Given the description of an element on the screen output the (x, y) to click on. 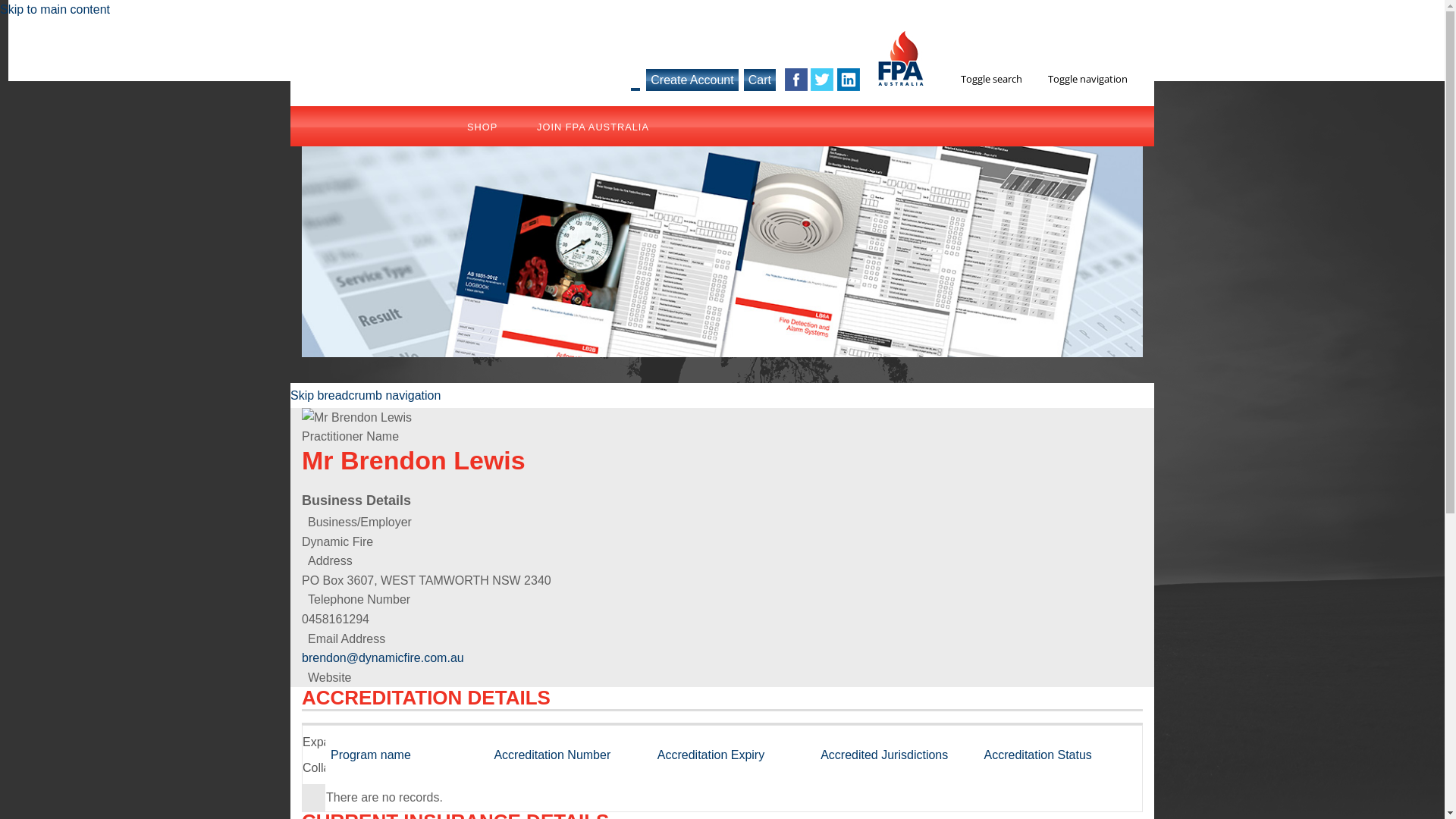
Skip to main content Element type: text (54, 9)
Visit our Twitter page Element type: hover (821, 81)
Accreditation Status Element type: text (1038, 754)
Accreditation Number Element type: text (551, 754)
Accredited Jurisdictions Element type: text (883, 754)
Toggle navigation Element type: text (1087, 78)
Program name Element type: text (370, 754)
Cart Element type: text (759, 80)
Create Account Element type: text (691, 80)
brendon@dynamicfire.com.au Element type: text (382, 657)
SHOP Element type: text (482, 127)
Skip breadcrumb navigation Element type: text (365, 395)
Toggle search Element type: text (983, 78)
Visit our Facebook page Element type: hover (795, 81)
Accreditation Expiry Element type: text (710, 754)
Mr Brendon Lewis Element type: hover (356, 417)
Visit our LinkedIn page Element type: hover (848, 81)
JOIN FPA AUSTRALIA Element type: text (574, 127)
